Given the description of an element on the screen output the (x, y) to click on. 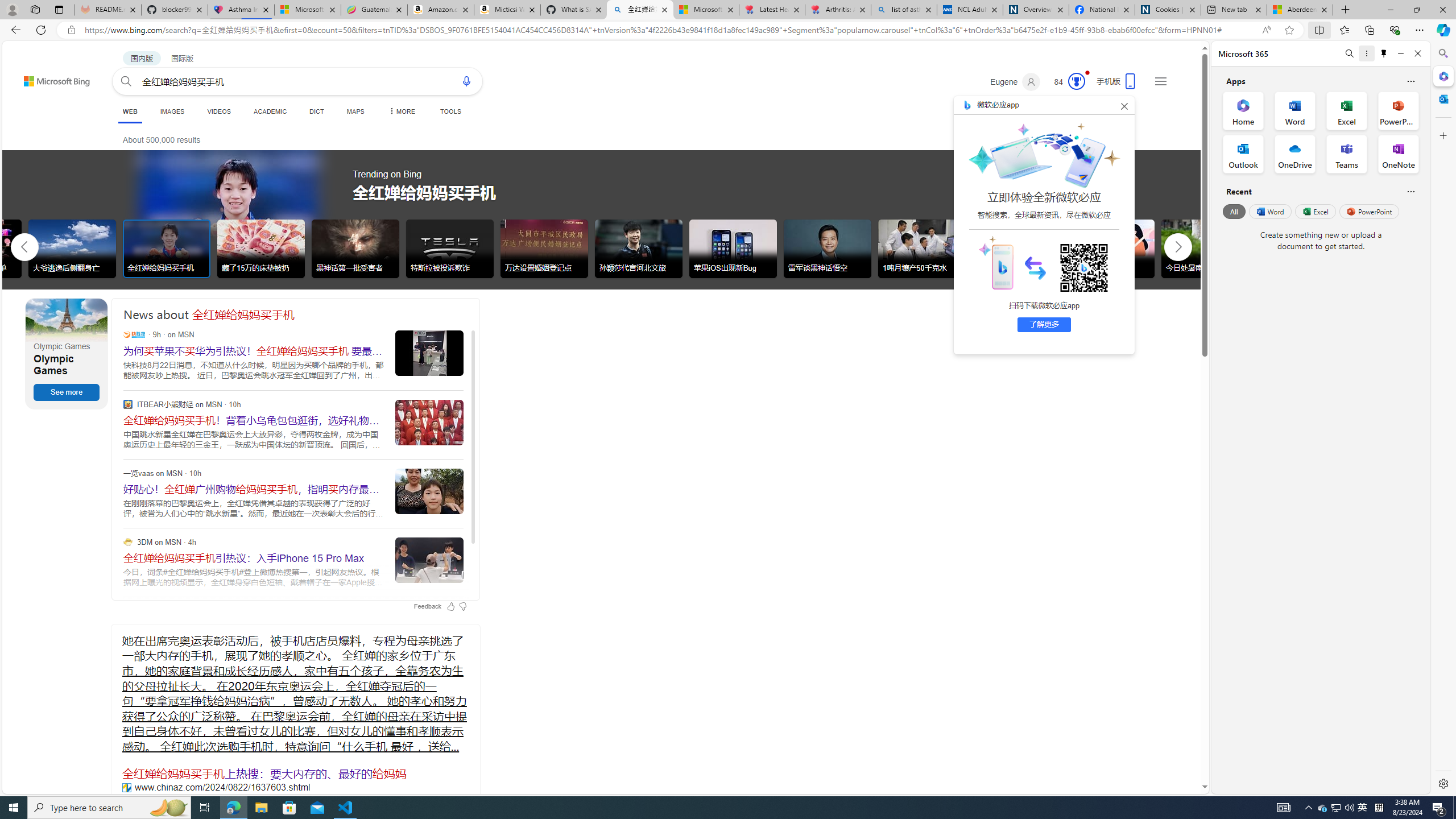
AutomationID: fly_arrimg (1035, 267)
Back to Bing search (50, 78)
MAPS (355, 111)
Search using voice (465, 80)
AutomationID: mfa_root (1161, 752)
WEB (129, 111)
